Given the description of an element on the screen output the (x, y) to click on. 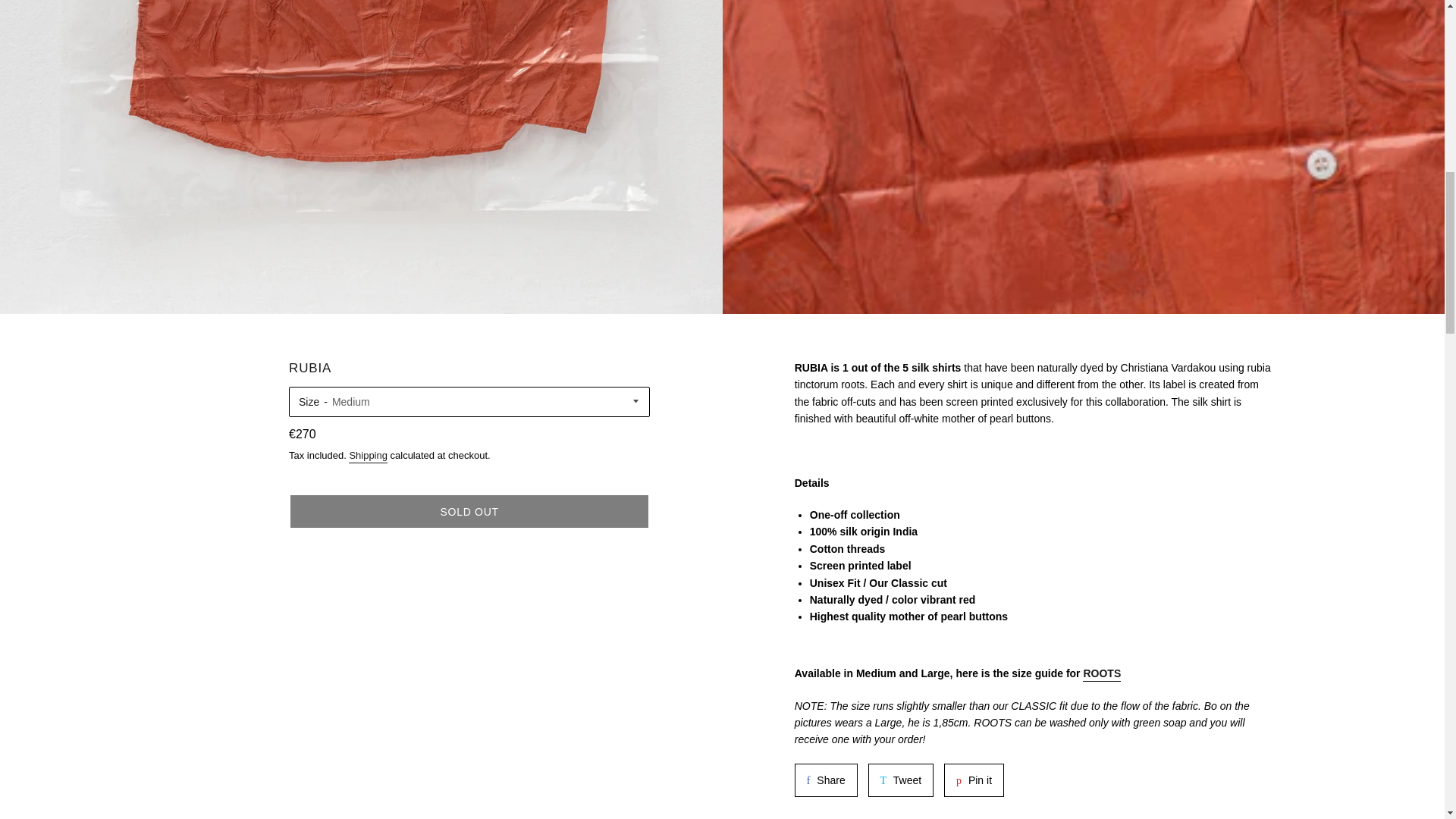
Pin on Pinterest (825, 779)
Share on Facebook (973, 779)
Shipping (825, 779)
Tweet on Twitter (368, 456)
ROOTS (900, 779)
SOLD OUT (900, 779)
